Given the description of an element on the screen output the (x, y) to click on. 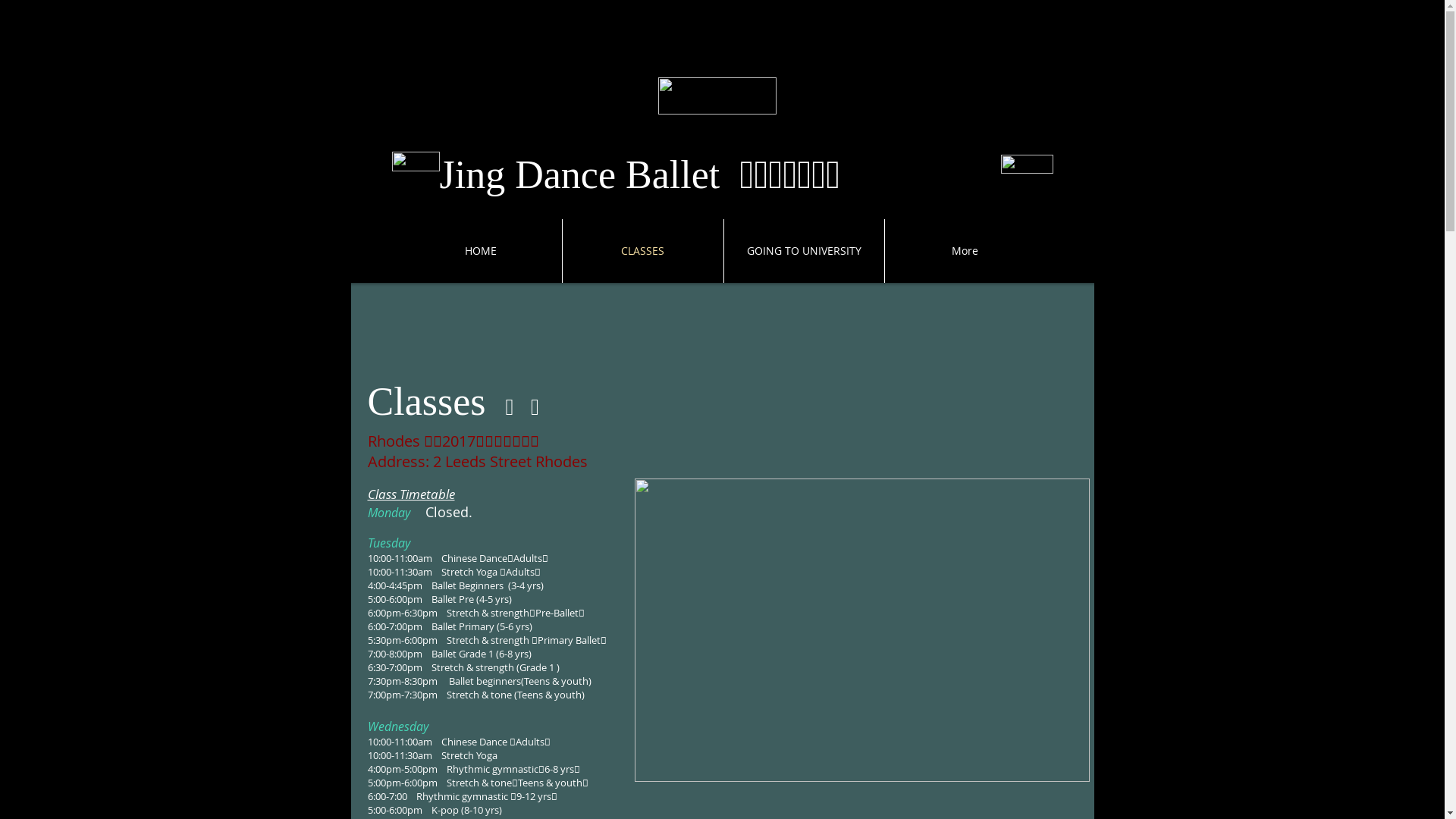
HOME Element type: text (480, 250)
GOING TO UNIVERSITY Element type: text (803, 250)
CLASSES Element type: text (642, 250)
